Given the description of an element on the screen output the (x, y) to click on. 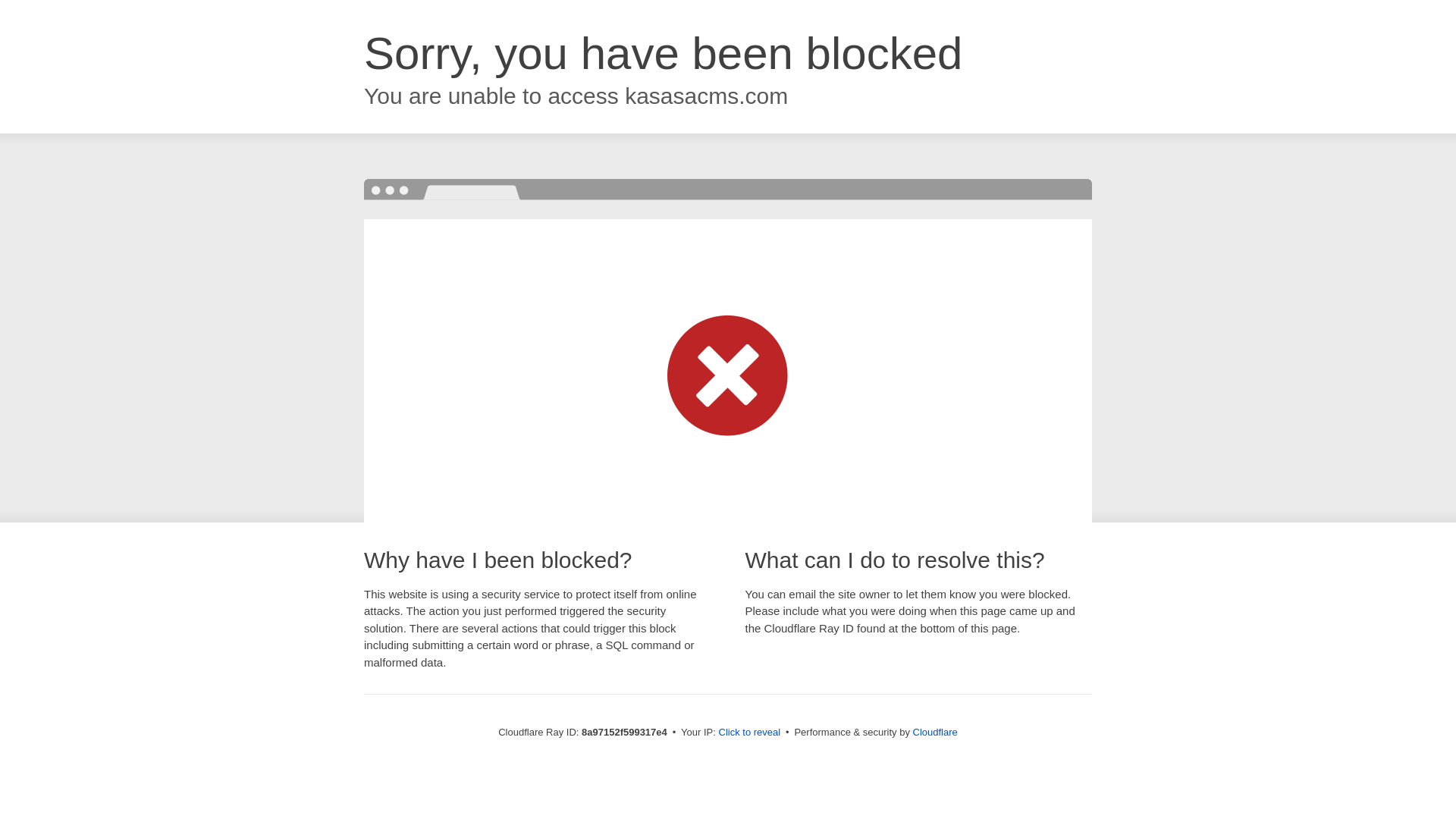
Cloudflare (935, 731)
Click to reveal (749, 732)
